Given the description of an element on the screen output the (x, y) to click on. 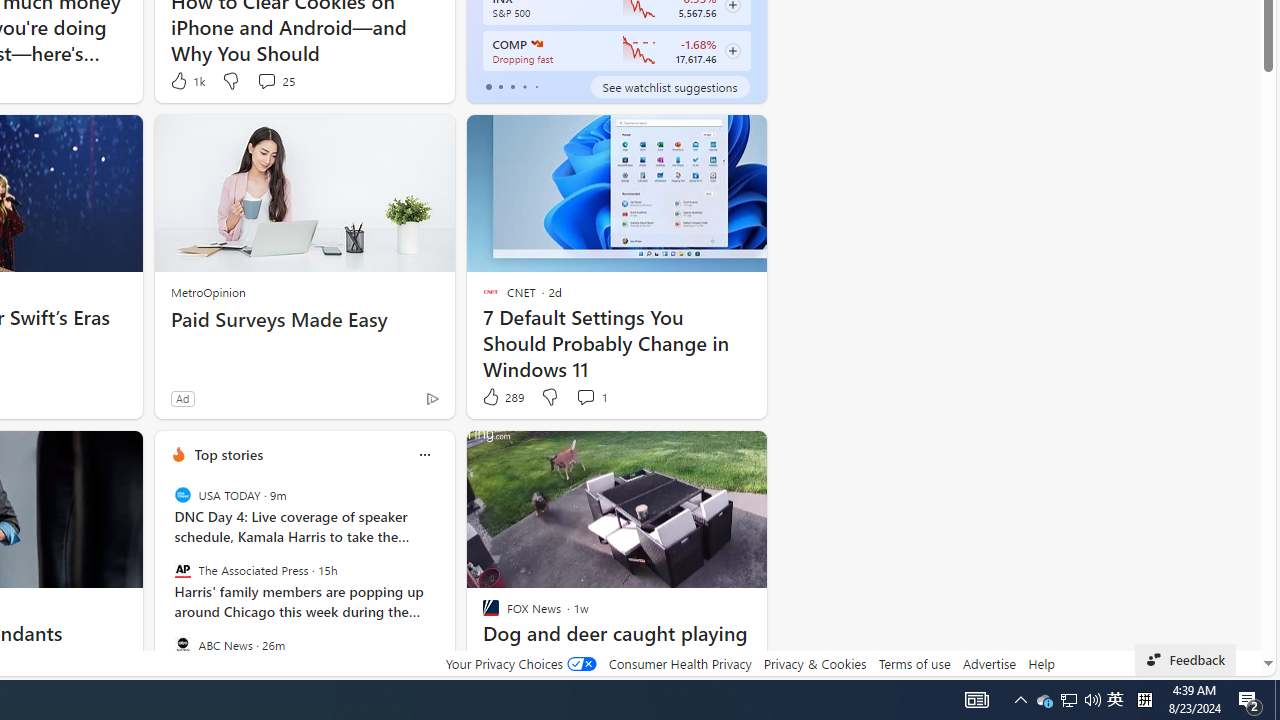
Class: follow-button  m (732, 51)
1k Like (186, 80)
next (444, 583)
289 Like (502, 397)
View comments 25 Comment (266, 80)
NASDAQ (535, 43)
